Given the description of an element on the screen output the (x, y) to click on. 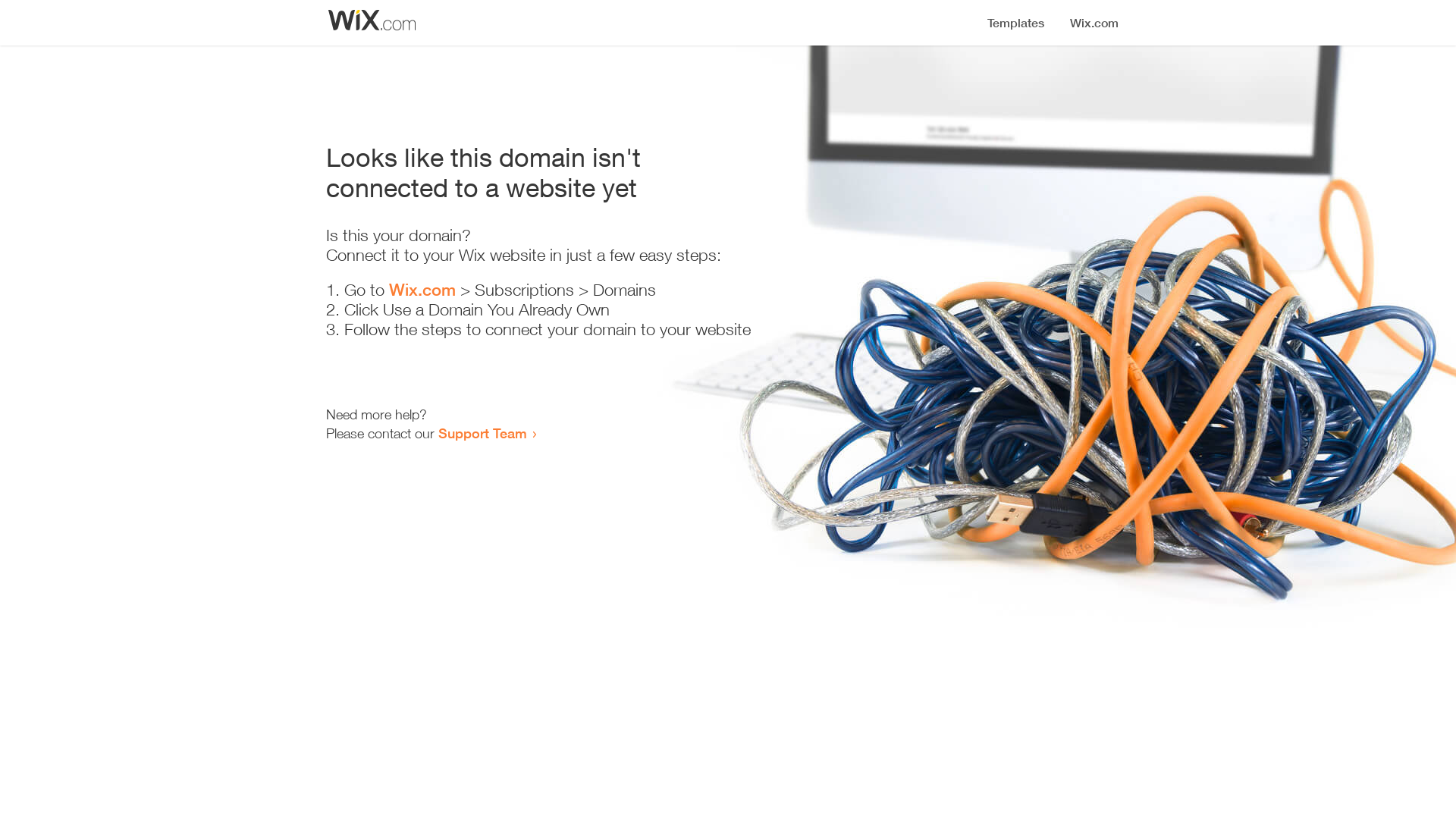
Support Team Element type: text (482, 432)
Wix.com Element type: text (422, 289)
